Given the description of an element on the screen output the (x, y) to click on. 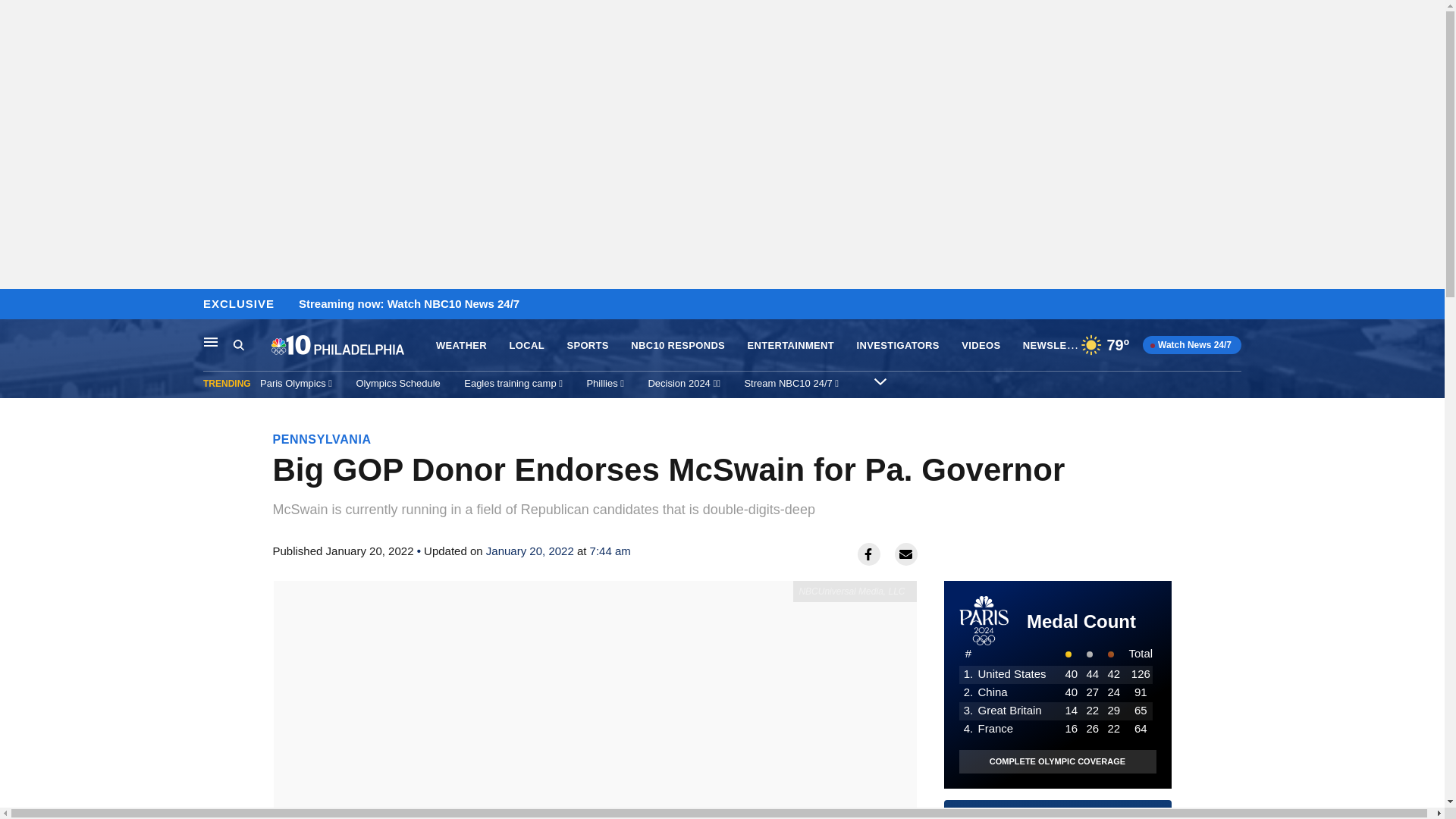
Main Navigation (210, 341)
COMPLETE OLYMPIC COVERAGE (1057, 761)
PENNSYLVANIA (322, 439)
NBC10 RESPONDS (677, 345)
WEATHER (460, 345)
Search (238, 344)
Expand (880, 381)
SPORTS (587, 345)
LOCAL (526, 345)
Olympics Schedule (398, 383)
